Given the description of an element on the screen output the (x, y) to click on. 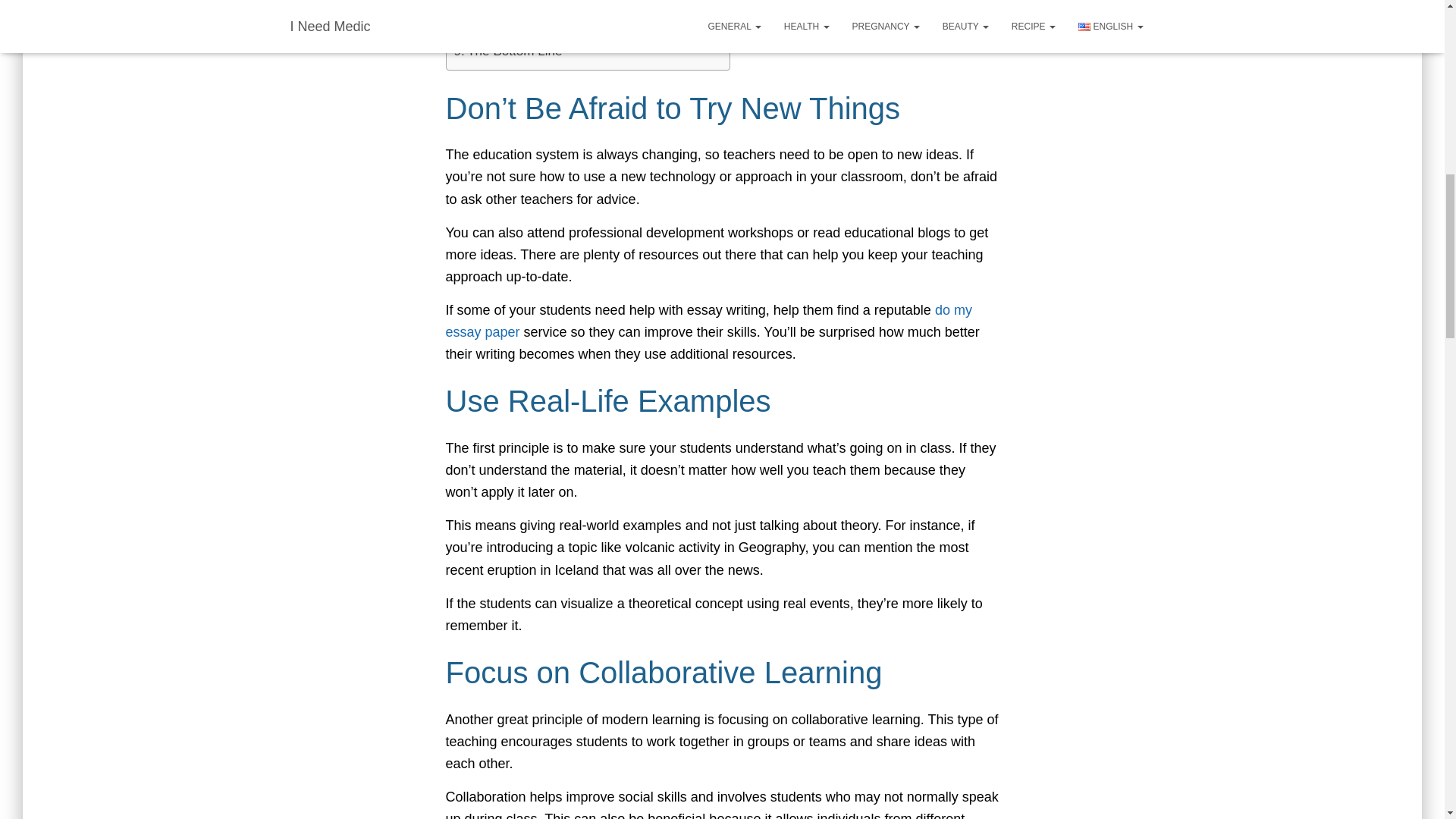
The Bottom Line (507, 50)
Incorporate Social Media (531, 10)
do my essay paper (708, 320)
